Given the description of an element on the screen output the (x, y) to click on. 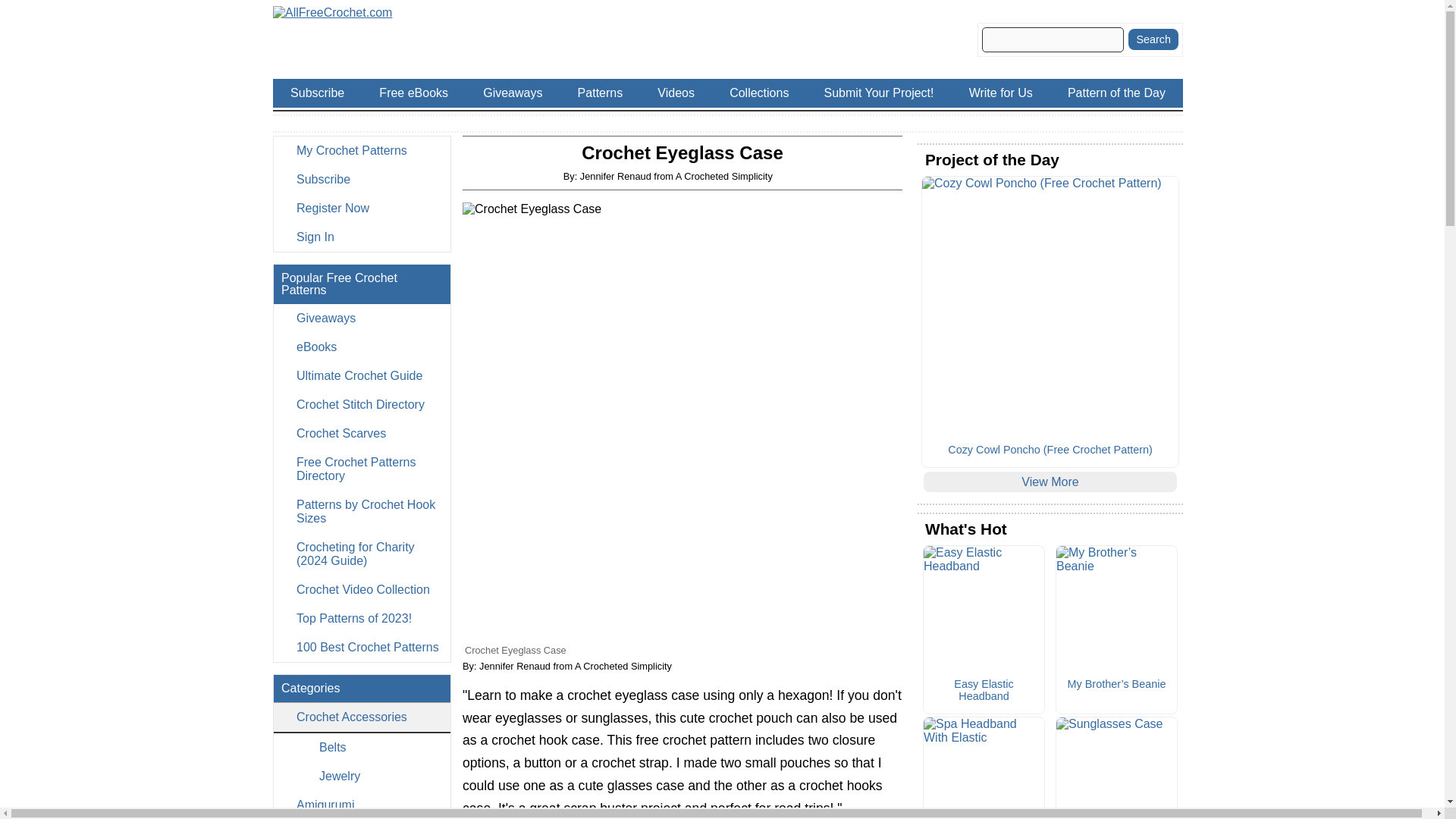
Search (1152, 38)
Sign In (361, 236)
Register Now (361, 208)
My Crochet Patterns (361, 150)
Subscribe (361, 179)
